Given the description of an element on the screen output the (x, y) to click on. 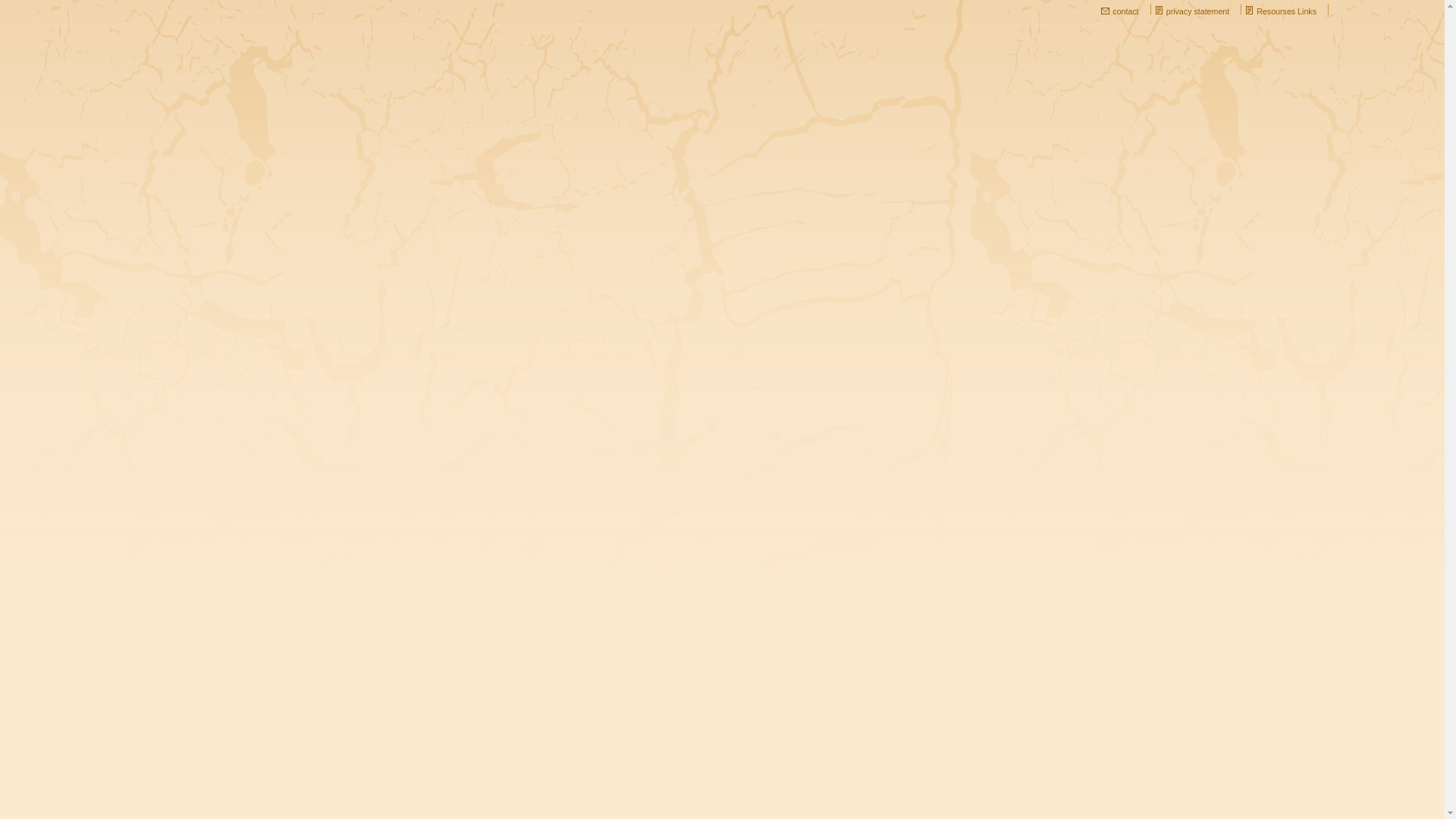
contact (1126, 11)
Resourses Links (1286, 11)
privacy statement (1198, 11)
